Given the description of an element on the screen output the (x, y) to click on. 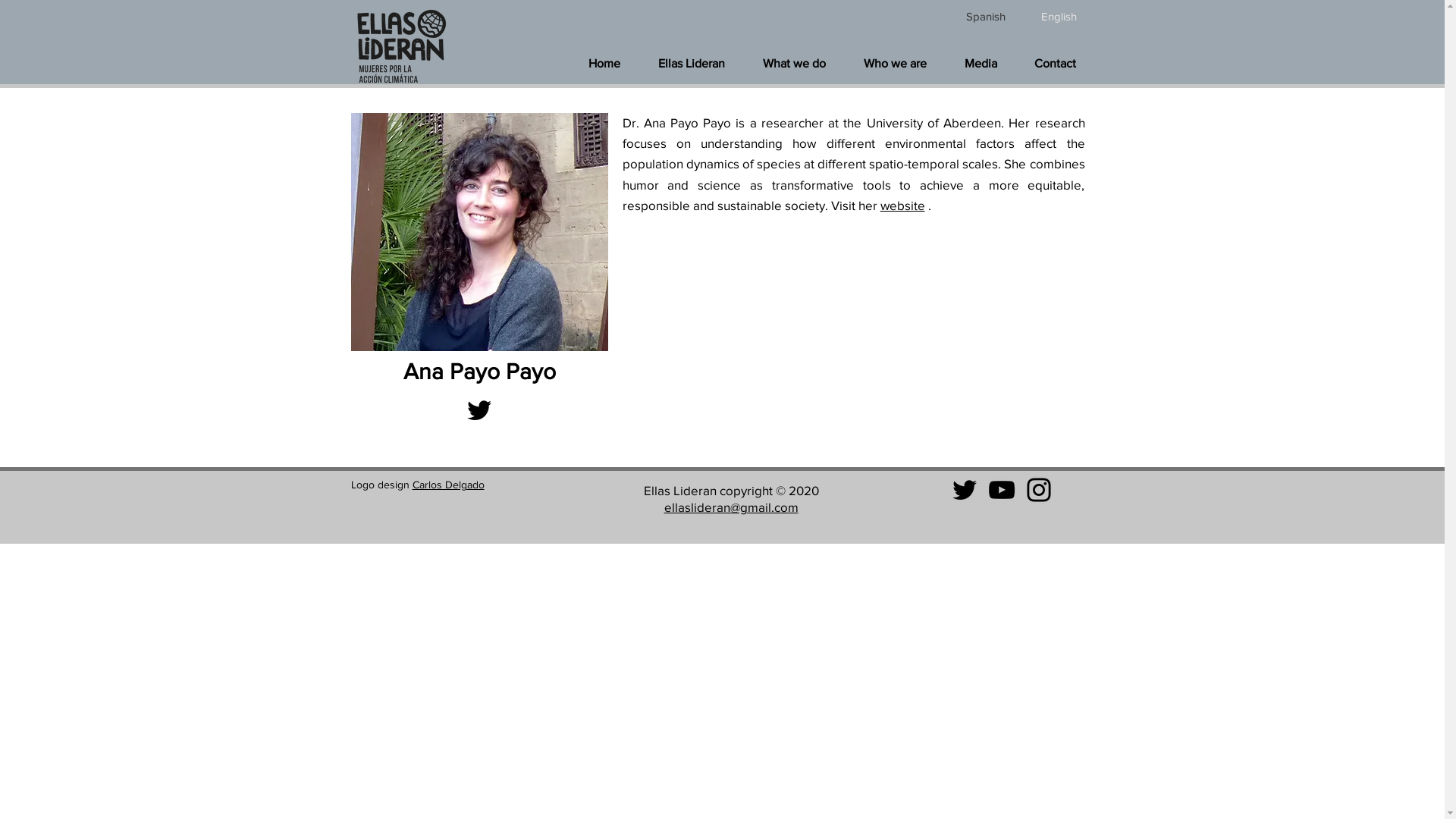
Media Element type: text (979, 63)
website Element type: text (901, 204)
Carlos Delgado Element type: text (448, 484)
Spanish Element type: text (984, 16)
ellaslideran@gmail.com Element type: text (731, 506)
English Element type: text (1057, 16)
Home Element type: text (603, 63)
What we do Element type: text (793, 63)
Who we are Element type: text (894, 63)
Ellas Lideran Element type: text (690, 63)
Contact Element type: text (1055, 63)
